Given the description of an element on the screen output the (x, y) to click on. 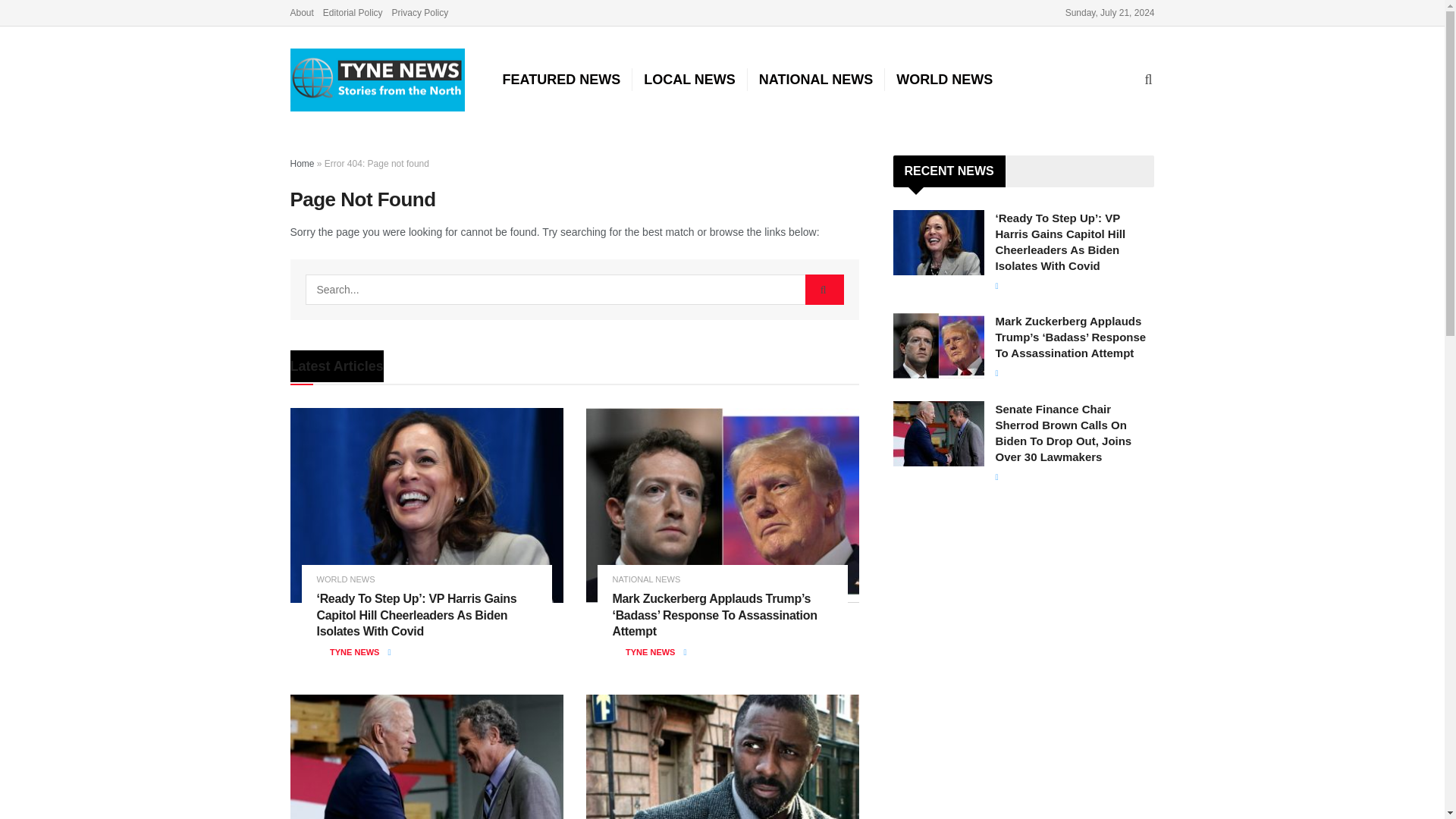
JULY 21, 2024 (712, 651)
JULY 21, 2024 (416, 651)
WORLD NEWS (944, 78)
WORLD NEWS (346, 579)
NATIONAL NEWS (646, 579)
Editorial Policy (352, 12)
TYNE NEWS (650, 651)
Privacy Policy (419, 12)
About (301, 12)
NATIONAL NEWS (815, 78)
FEATURED NEWS (561, 78)
TYNE NEWS (354, 651)
Home (301, 163)
LOCAL NEWS (689, 78)
